Given the description of an element on the screen output the (x, y) to click on. 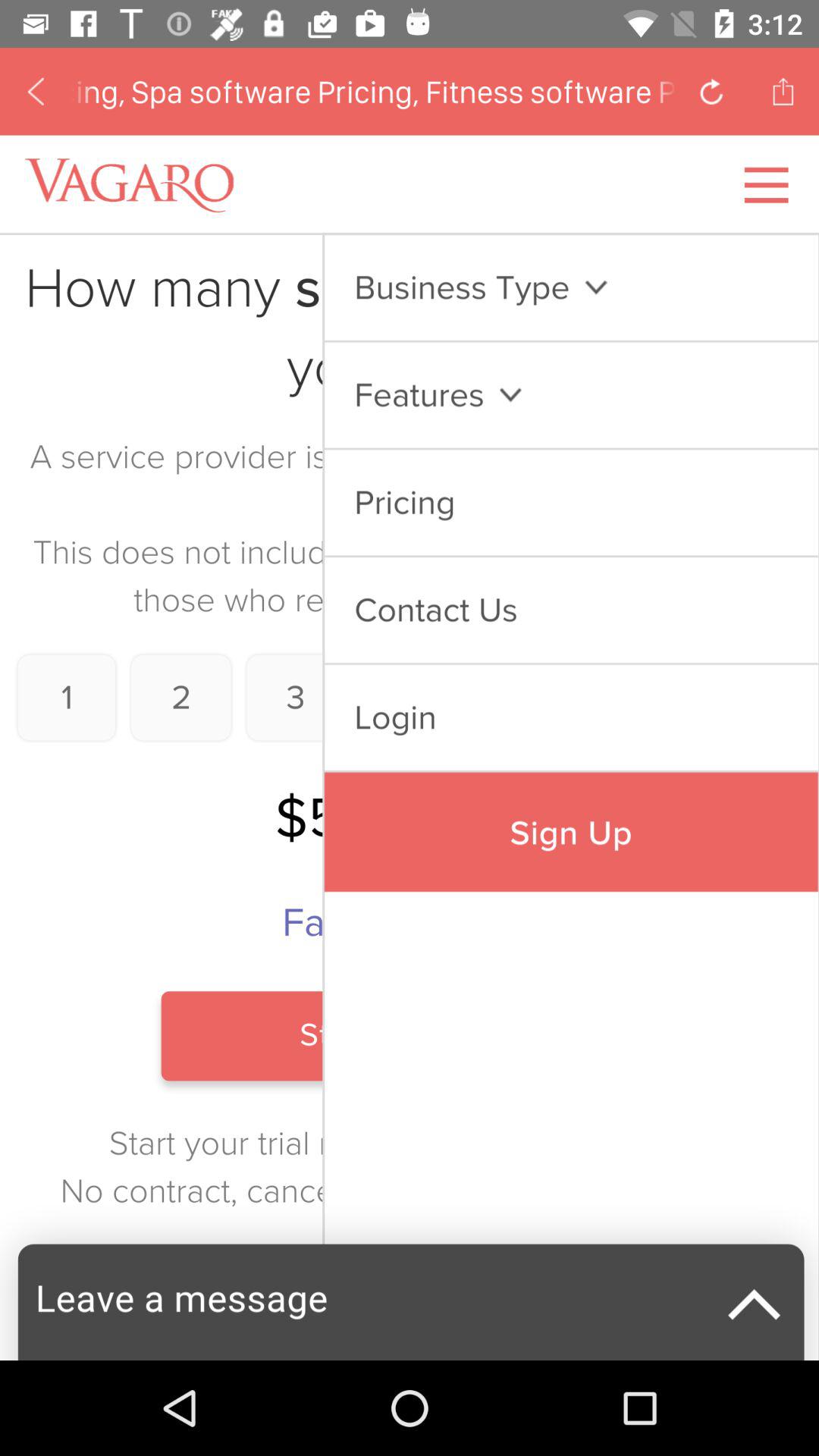
refresh the page (711, 91)
